Given the description of an element on the screen output the (x, y) to click on. 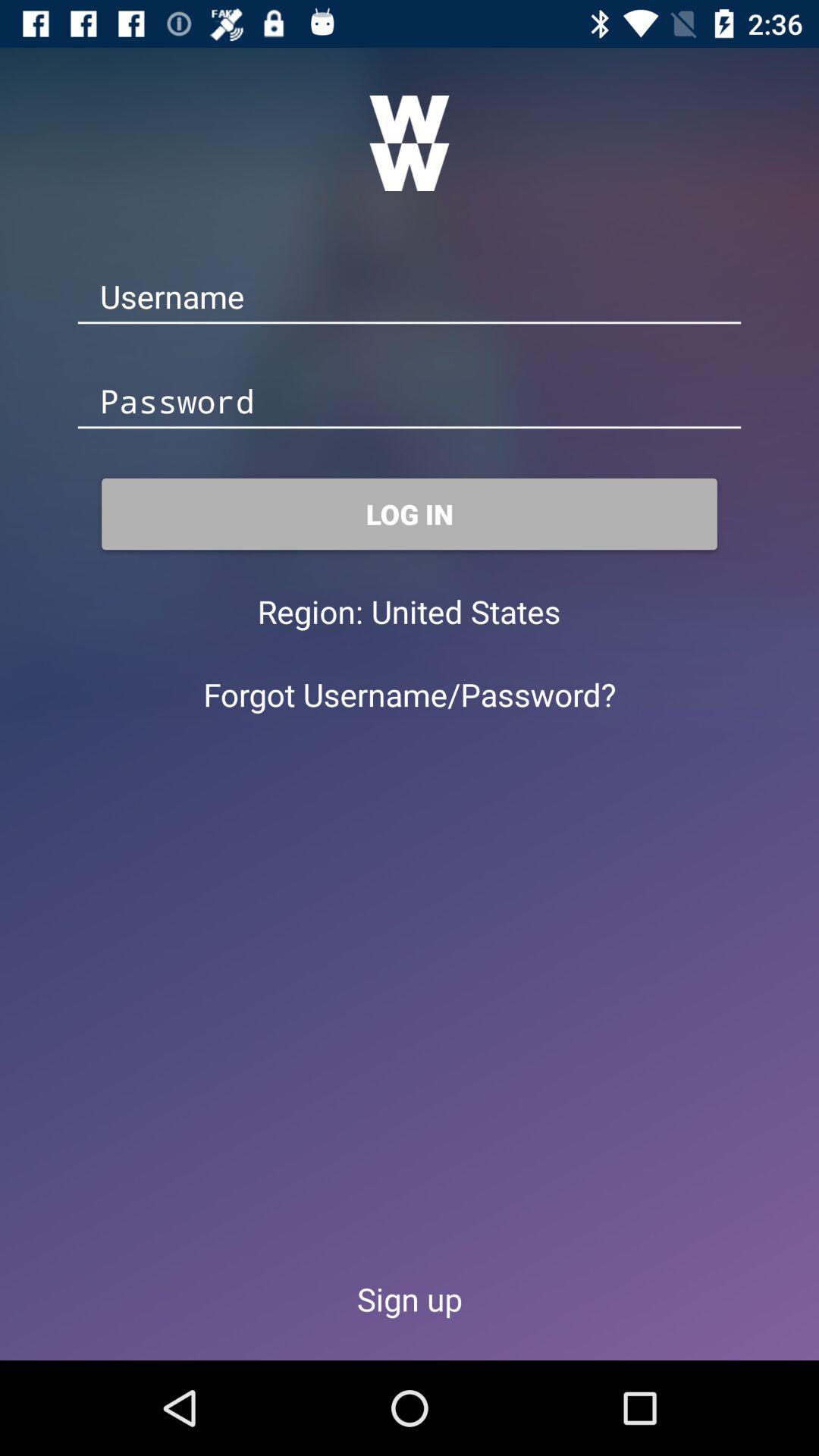
select the icon above forgot username/password? (465, 611)
